Given the description of an element on the screen output the (x, y) to click on. 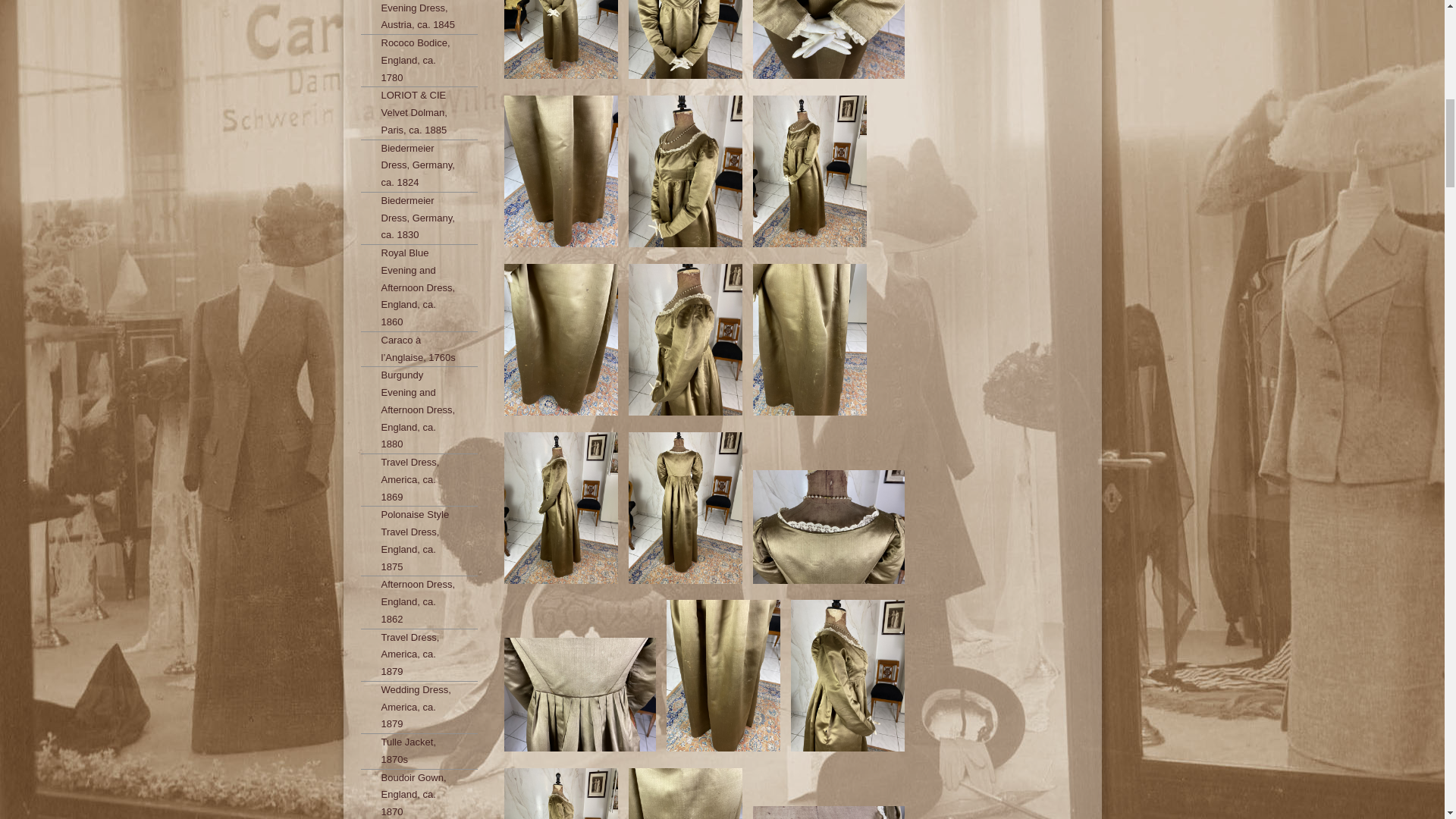
Royal Blue Evening and Afternoon Dress, England, ca. 1860 (419, 287)
8 antique empire silk dress 1805 (685, 417)
14 antique empire silk dress 1805 (848, 753)
12 antique empire silk dress 1805 (829, 585)
11 antique empire silk dress 1805 (685, 585)
Wedding Dress, America, ca. 1879 (419, 707)
10 antique empire silk dress 1805 (561, 585)
Biedermeier Dress, Germany, ca. 1824 (419, 164)
Travel Dress, America, ca. 1879 (419, 654)
4a antique empire silk dress 1805 (561, 248)
Biedermeier Evening Dress, Austria, ca. 1845 (419, 17)
5 antique empire silk dress 1805 (685, 248)
Rococo Bodice, England, ca. 1780 (419, 60)
Boudoir Gown, England, ca. 1870 (419, 794)
2 antique empire silk dress 1805 (561, 80)
